Given the description of an element on the screen output the (x, y) to click on. 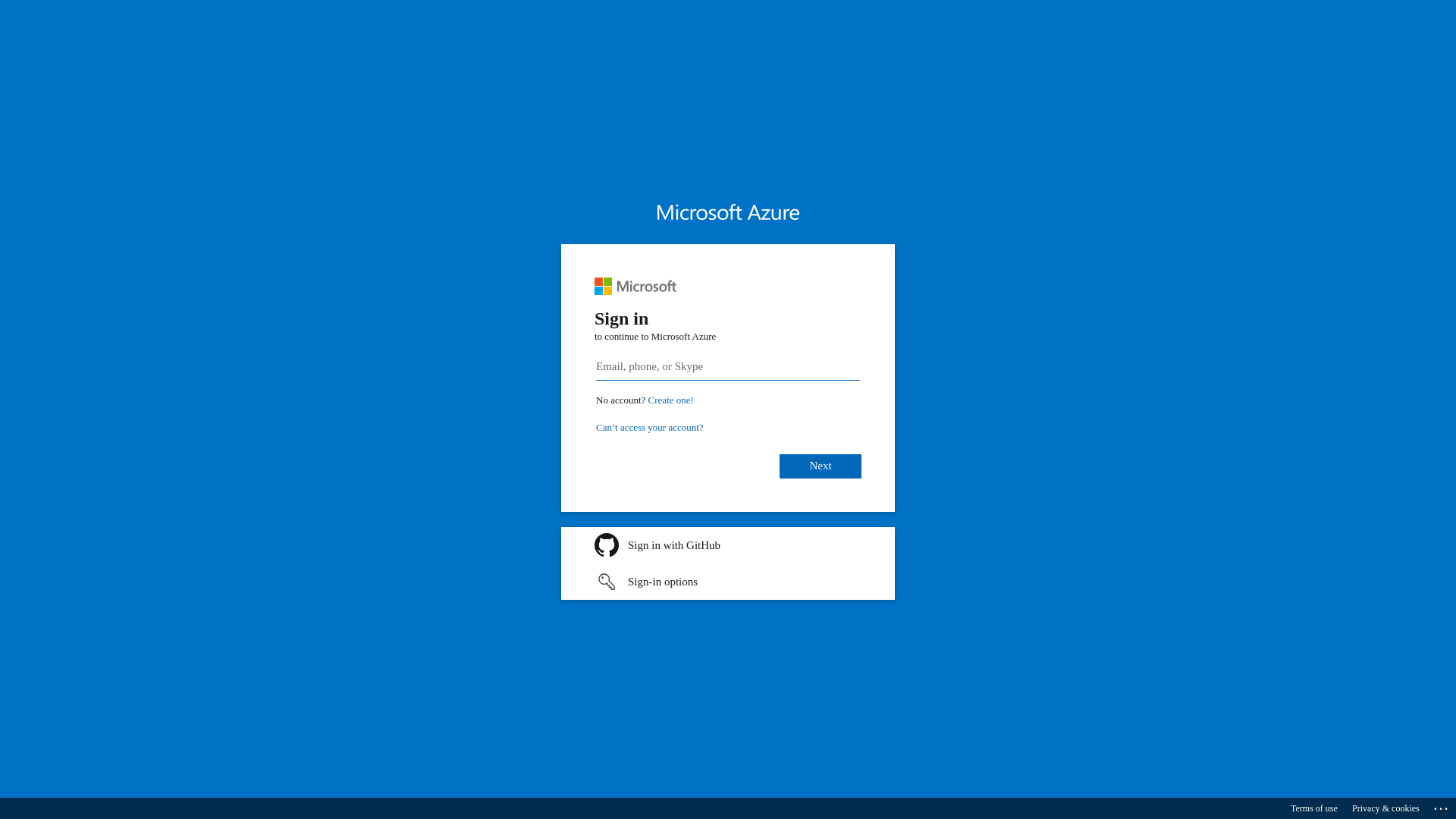
... Element type: text (1441, 805)
Create one! Element type: text (670, 399)
Next Element type: text (820, 466)
